Given the description of an element on the screen output the (x, y) to click on. 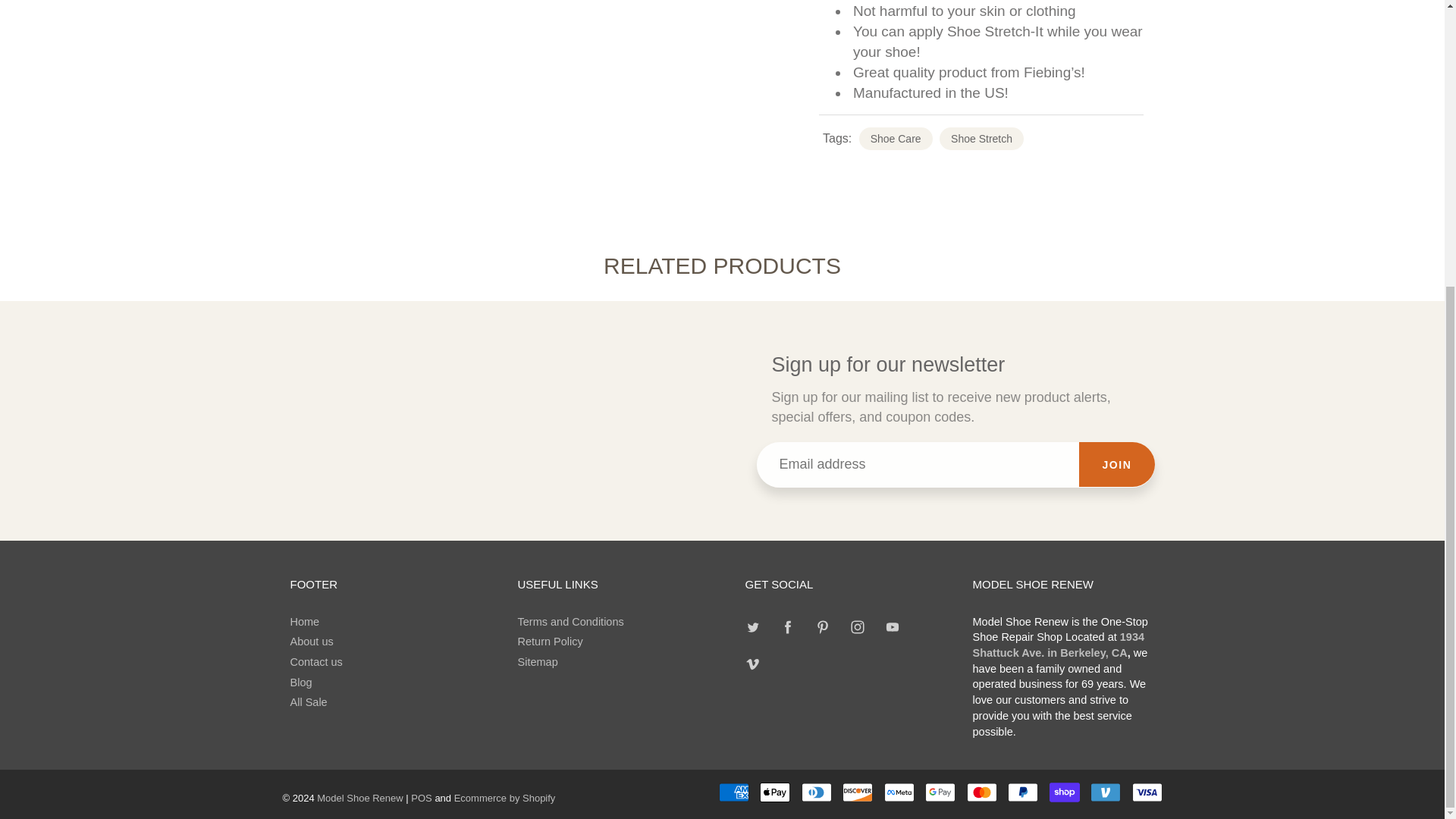
Pinterest (822, 627)
Venmo (1105, 792)
Visa (1146, 792)
Discover (857, 792)
Mastercard (981, 792)
YouTube (892, 627)
Apple Pay (775, 792)
Google Pay (939, 792)
Twitter (753, 627)
American Express (734, 792)
